Given the description of an element on the screen output the (x, y) to click on. 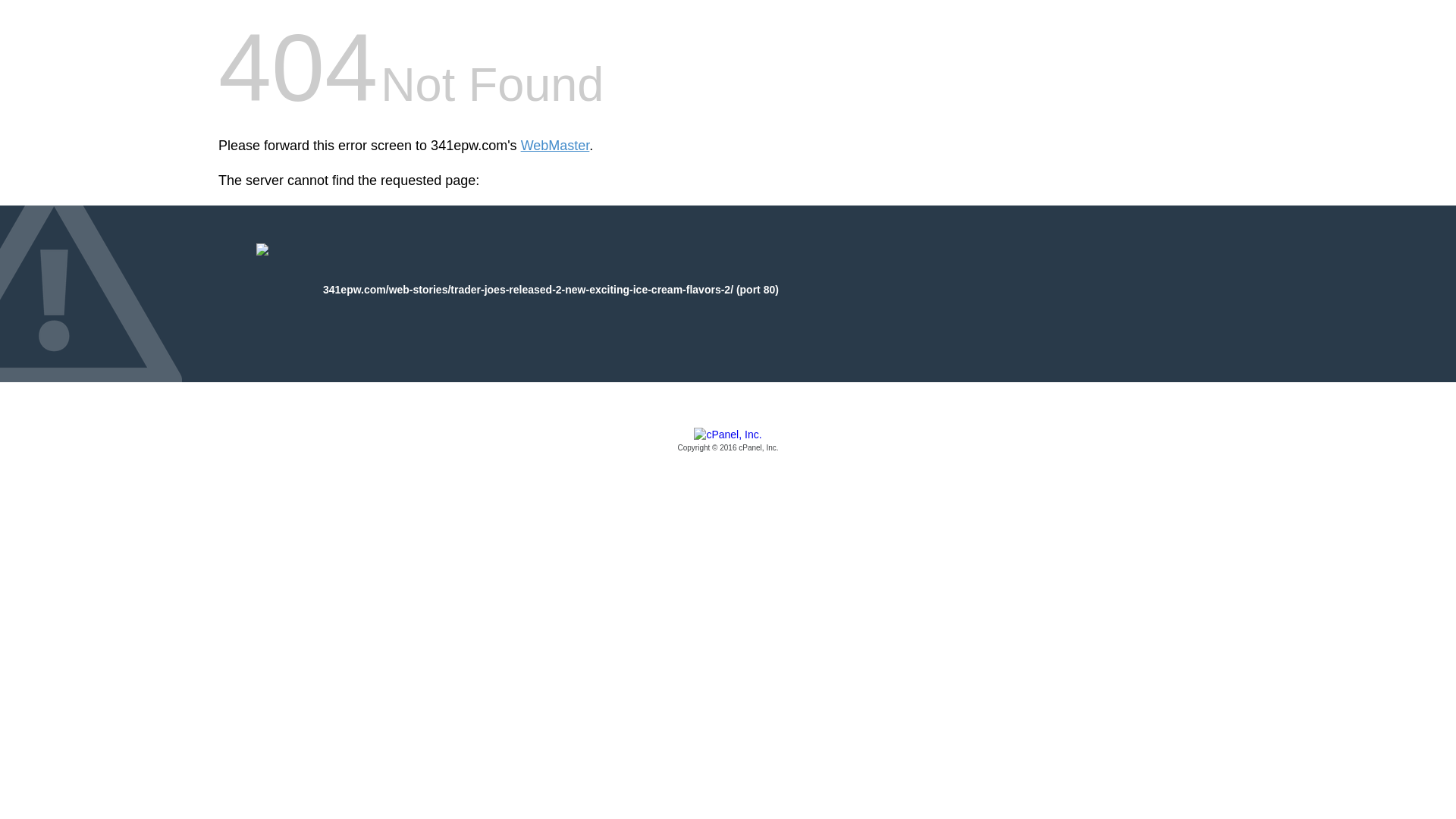
cPanel, Inc. (727, 440)
WebMaster (555, 145)
